Given the description of an element on the screen output the (x, y) to click on. 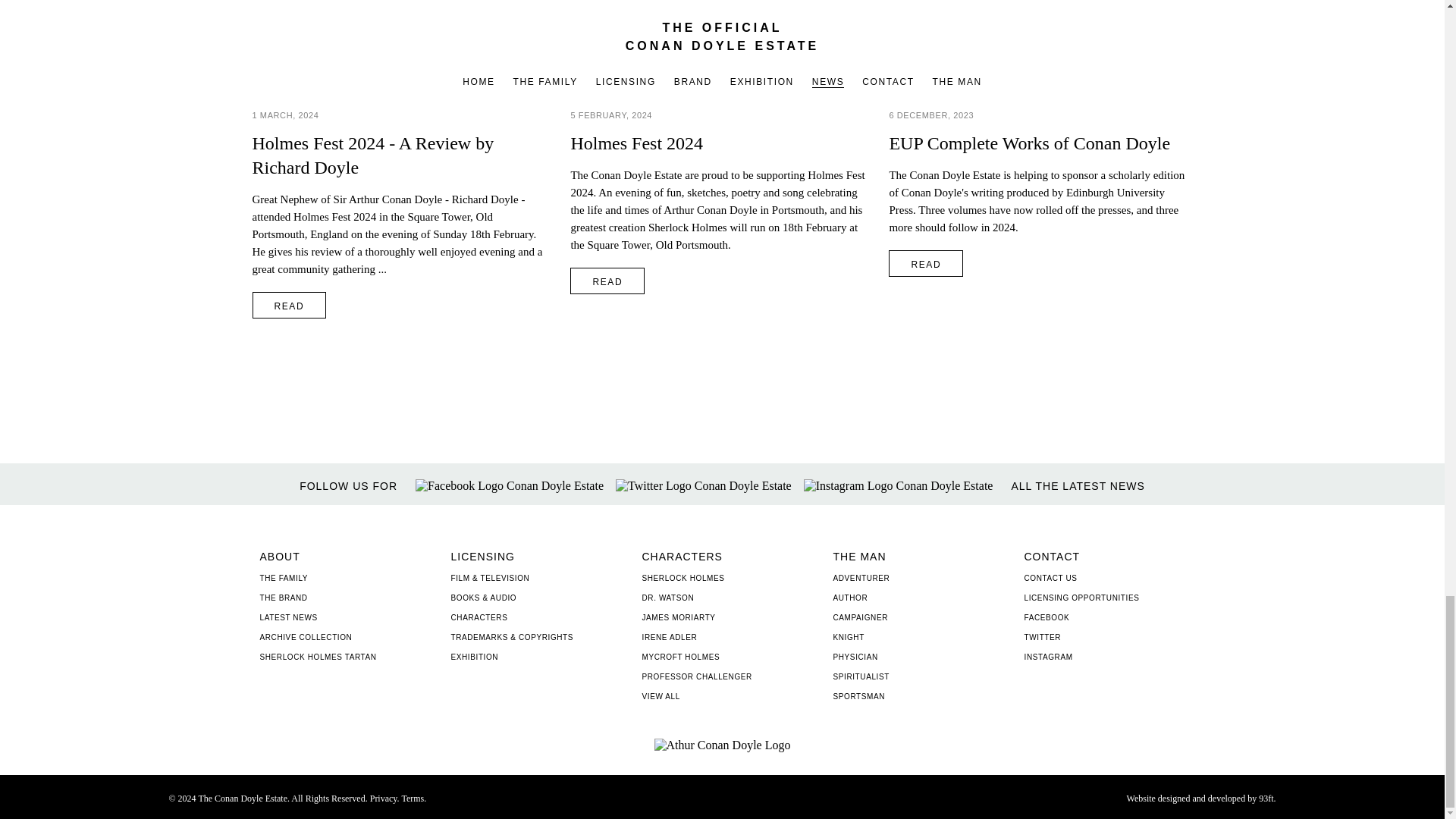
Holmes Fest 2024 (721, 143)
READ (288, 304)
EUP Complete Works of Conan Doyle (1040, 143)
THE FAMILY (283, 578)
THE BRAND (283, 597)
SHERLOCK HOLMES TARTAN (317, 656)
Holmes Fest 2024 - A Review by Richard Doyle (402, 155)
READ (607, 280)
LATEST NEWS (288, 617)
ARCHIVE COLLECTION (305, 637)
READ (925, 263)
